Given the description of an element on the screen output the (x, y) to click on. 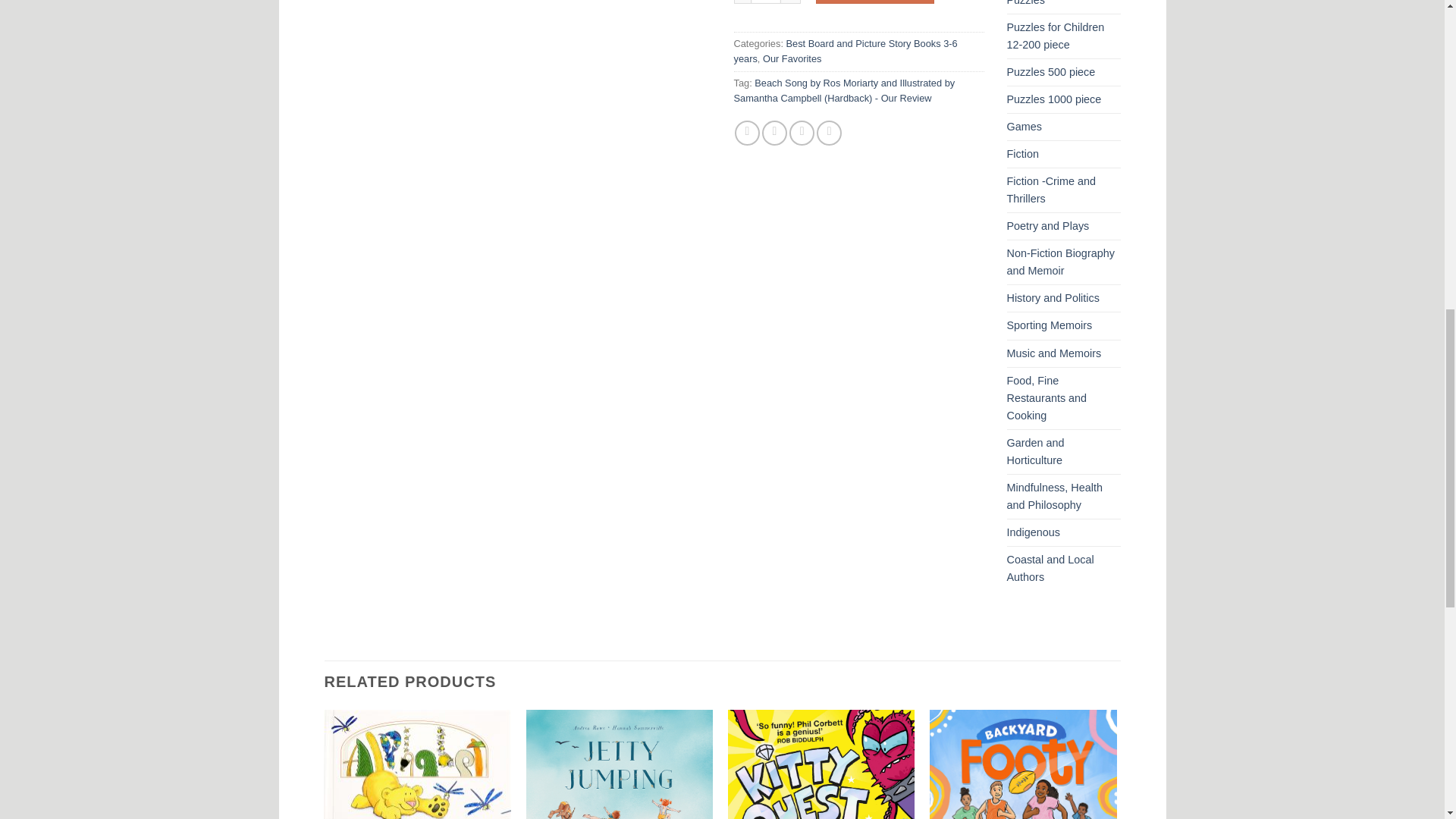
Share on Facebook (747, 132)
1 (765, 2)
- (742, 2)
Email to a Friend (801, 132)
Share on Twitter (774, 132)
